Given the description of an element on the screen output the (x, y) to click on. 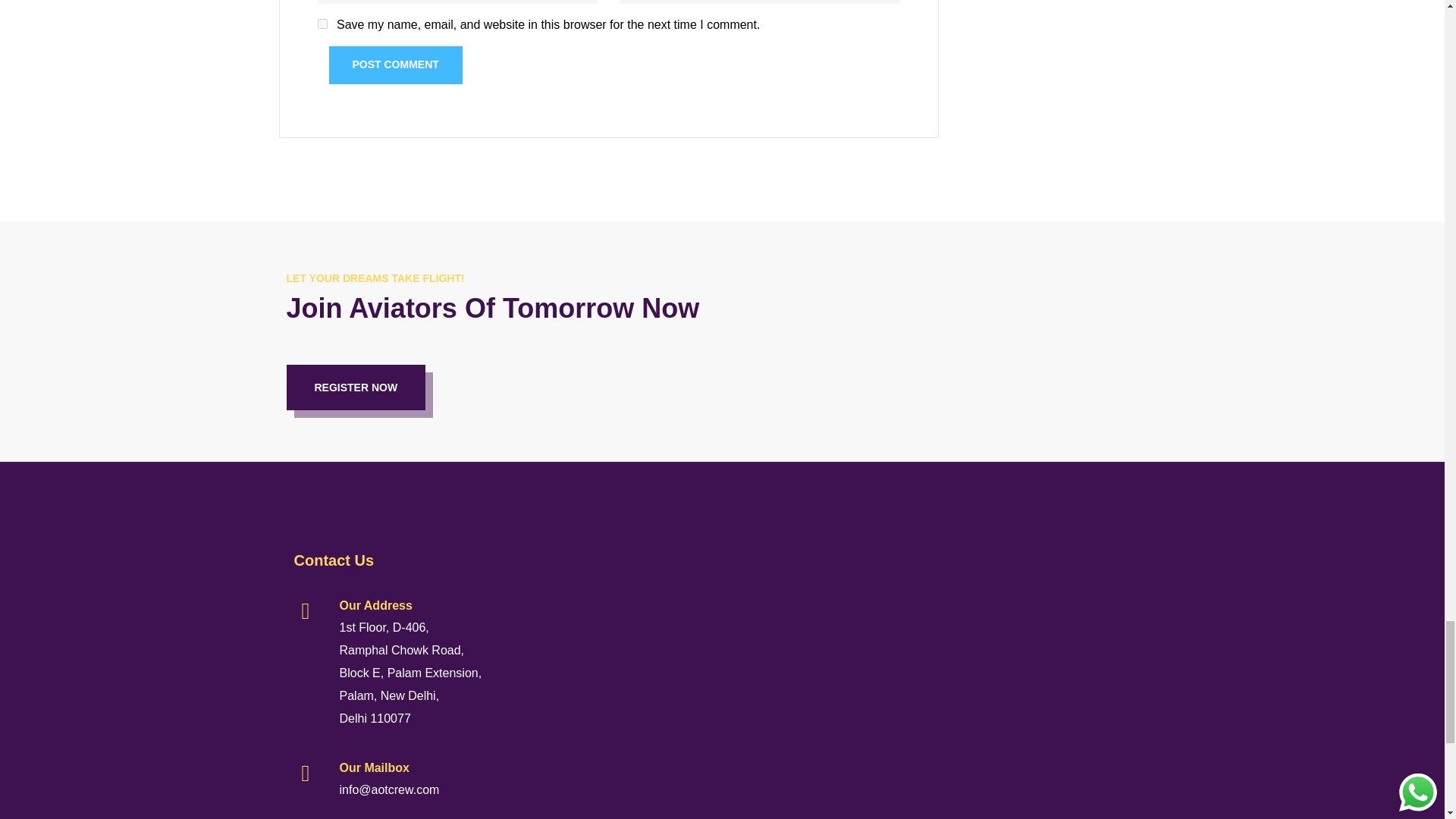
yes (321, 23)
Post Comment (396, 64)
